Given the description of an element on the screen output the (x, y) to click on. 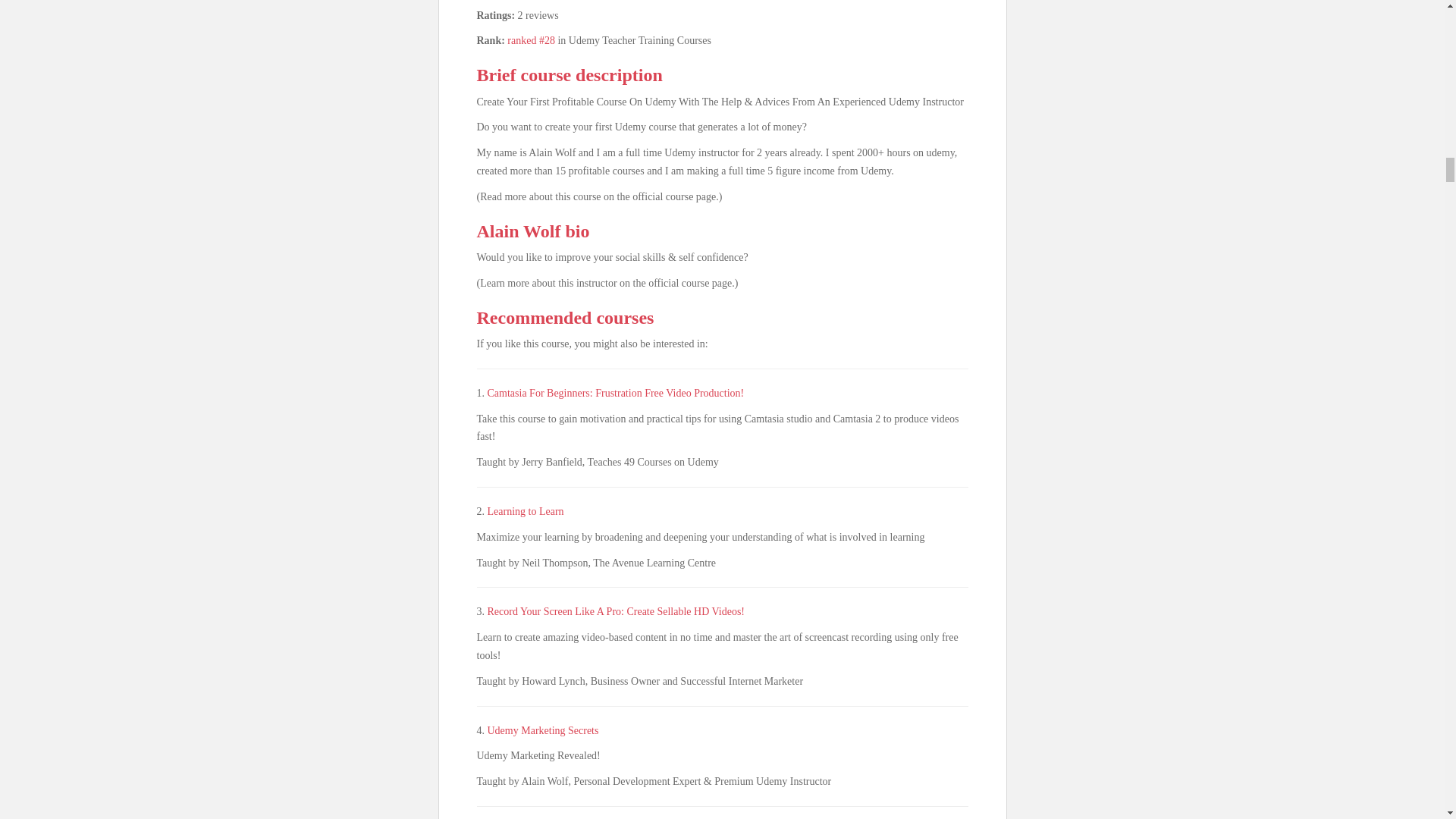
Record Your Screen Like A Pro: Create Sellable HD Videos! (615, 611)
Learning to Learn (524, 511)
Camtasia For Beginners: Frustration Free Video Production! (615, 392)
Udemy Marketing Secrets (542, 730)
